Given the description of an element on the screen output the (x, y) to click on. 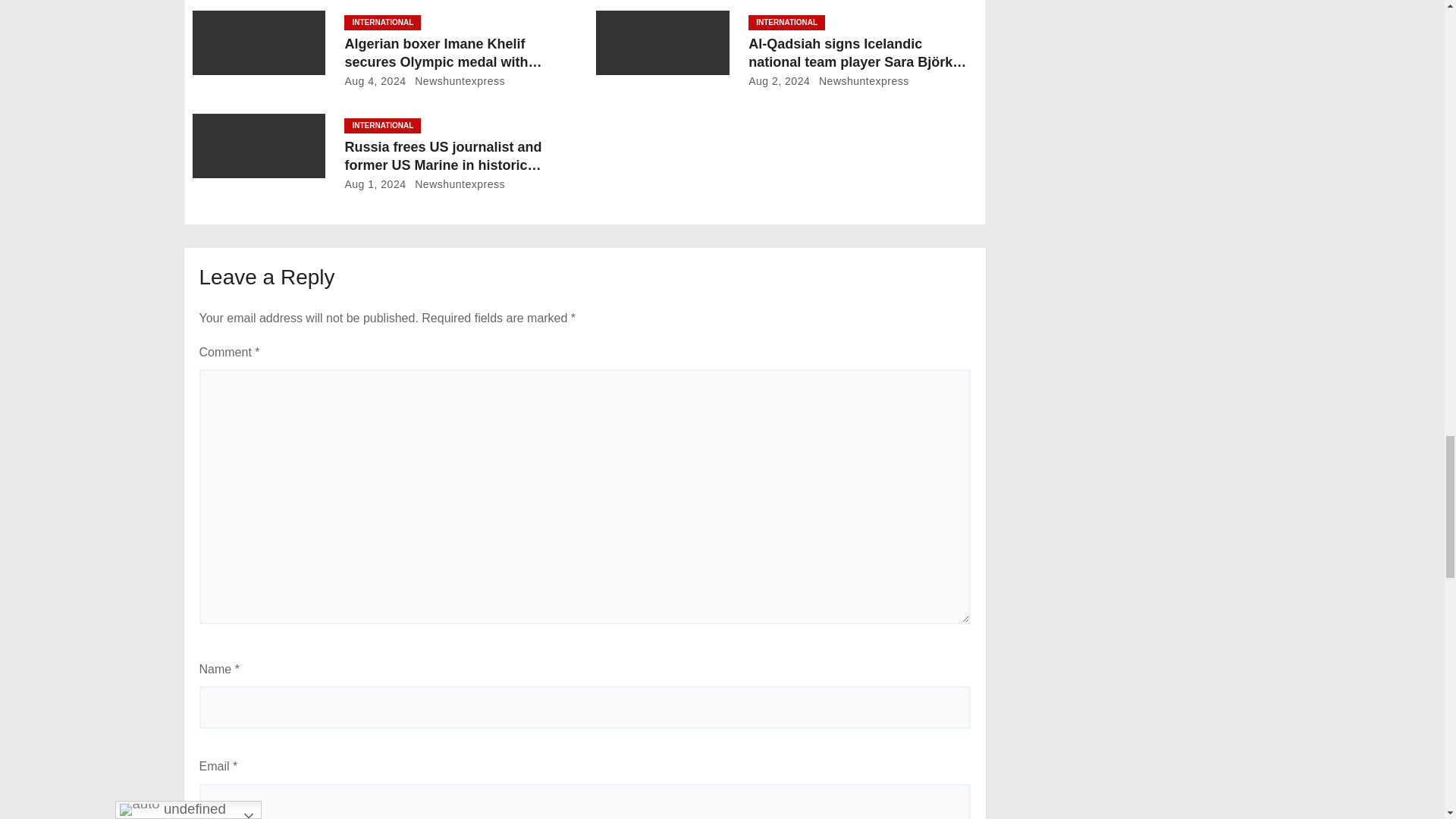
Aug 4, 2024 (374, 80)
INTERNATIONAL (381, 22)
Newshuntexpress (457, 80)
